Given the description of an element on the screen output the (x, y) to click on. 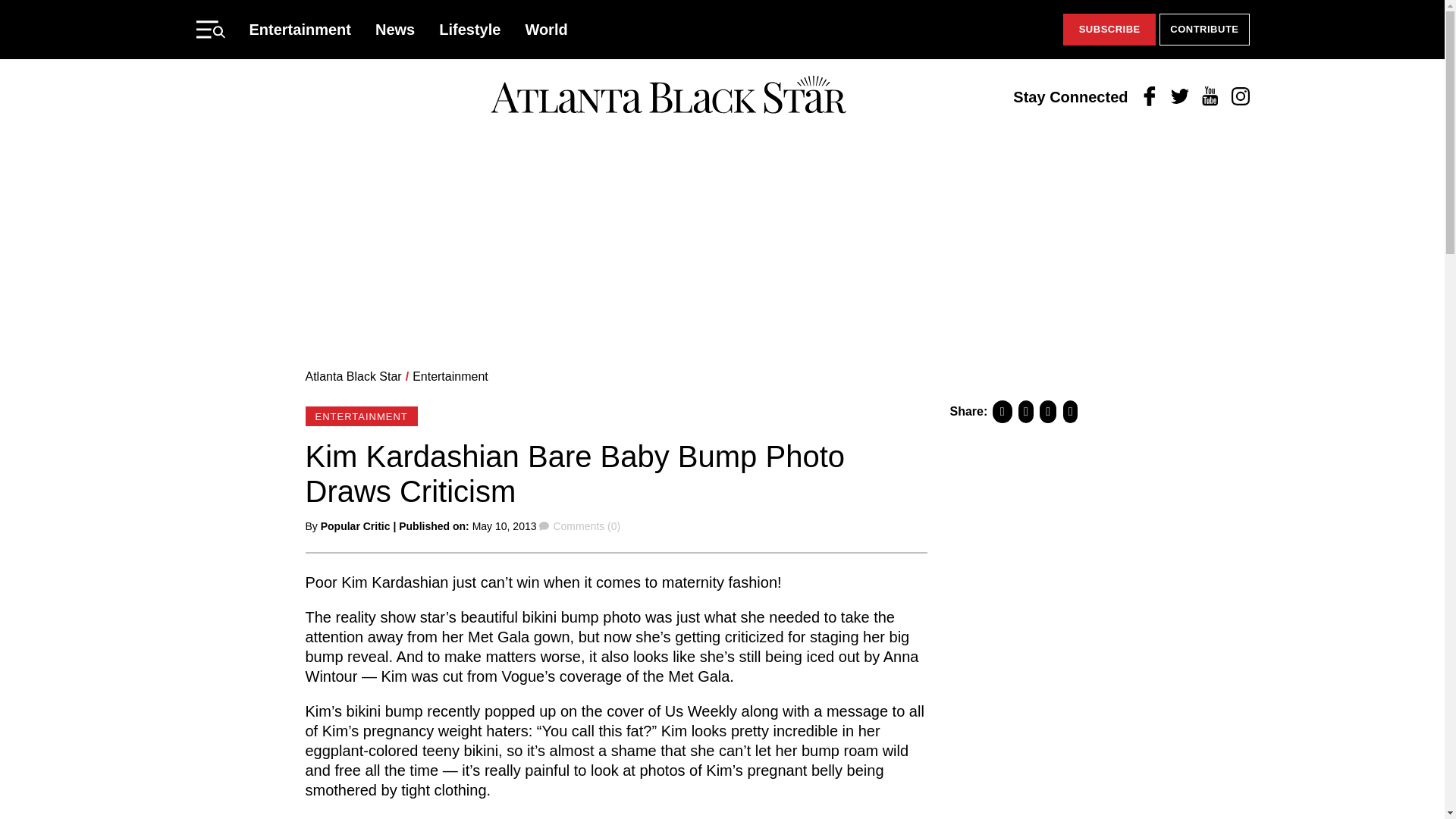
CONTRIBUTE (1203, 29)
Popular Critic (355, 526)
Entertainment (449, 376)
World (545, 29)
Go to the Entertainment Category archives. (449, 376)
SUBSCRIBE (1109, 29)
Lifestyle (469, 29)
Atlanta Black Star (667, 96)
News (394, 29)
ENTERTAINMENT (360, 415)
